Given the description of an element on the screen output the (x, y) to click on. 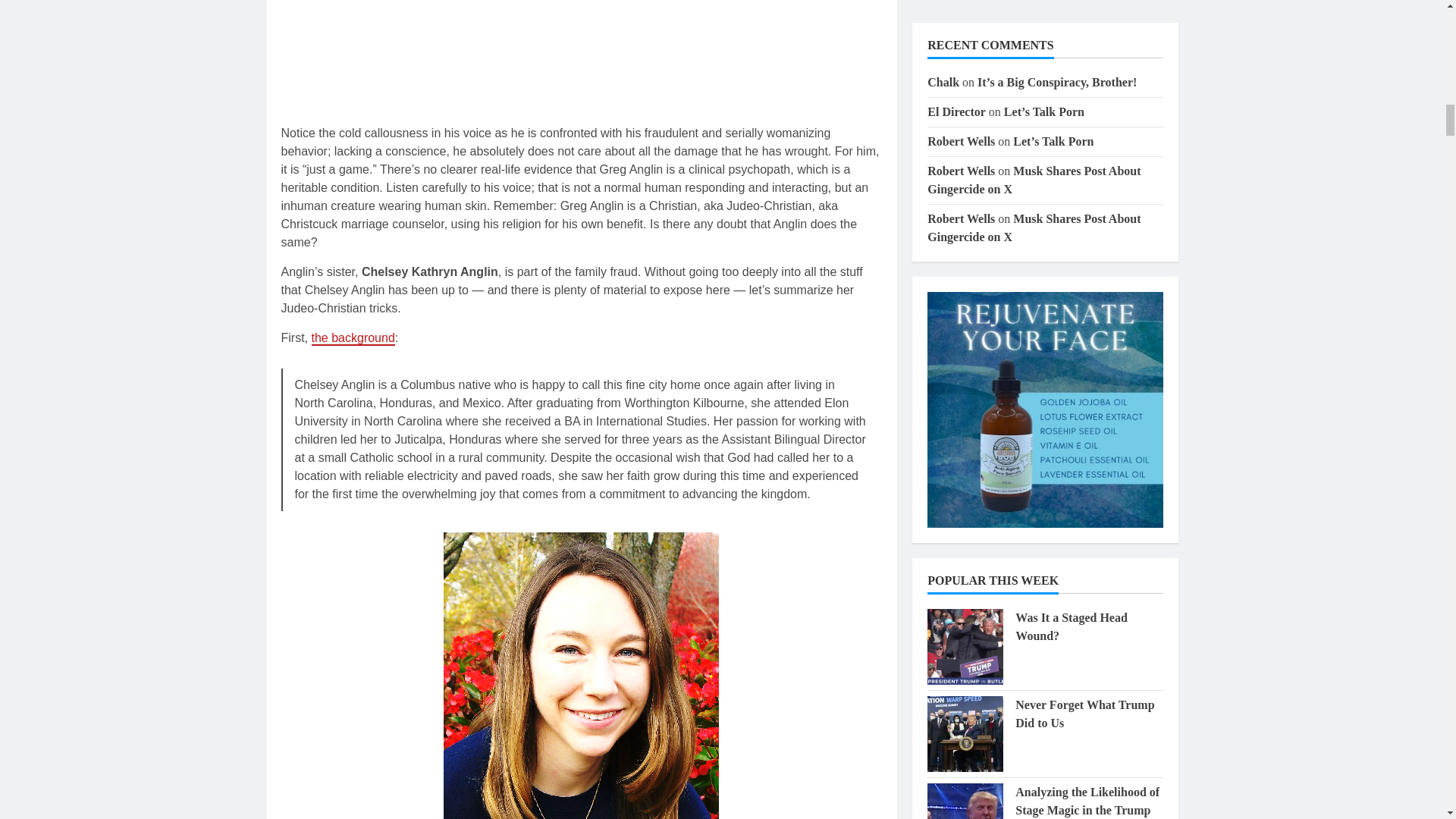
the background (352, 338)
